Given the description of an element on the screen output the (x, y) to click on. 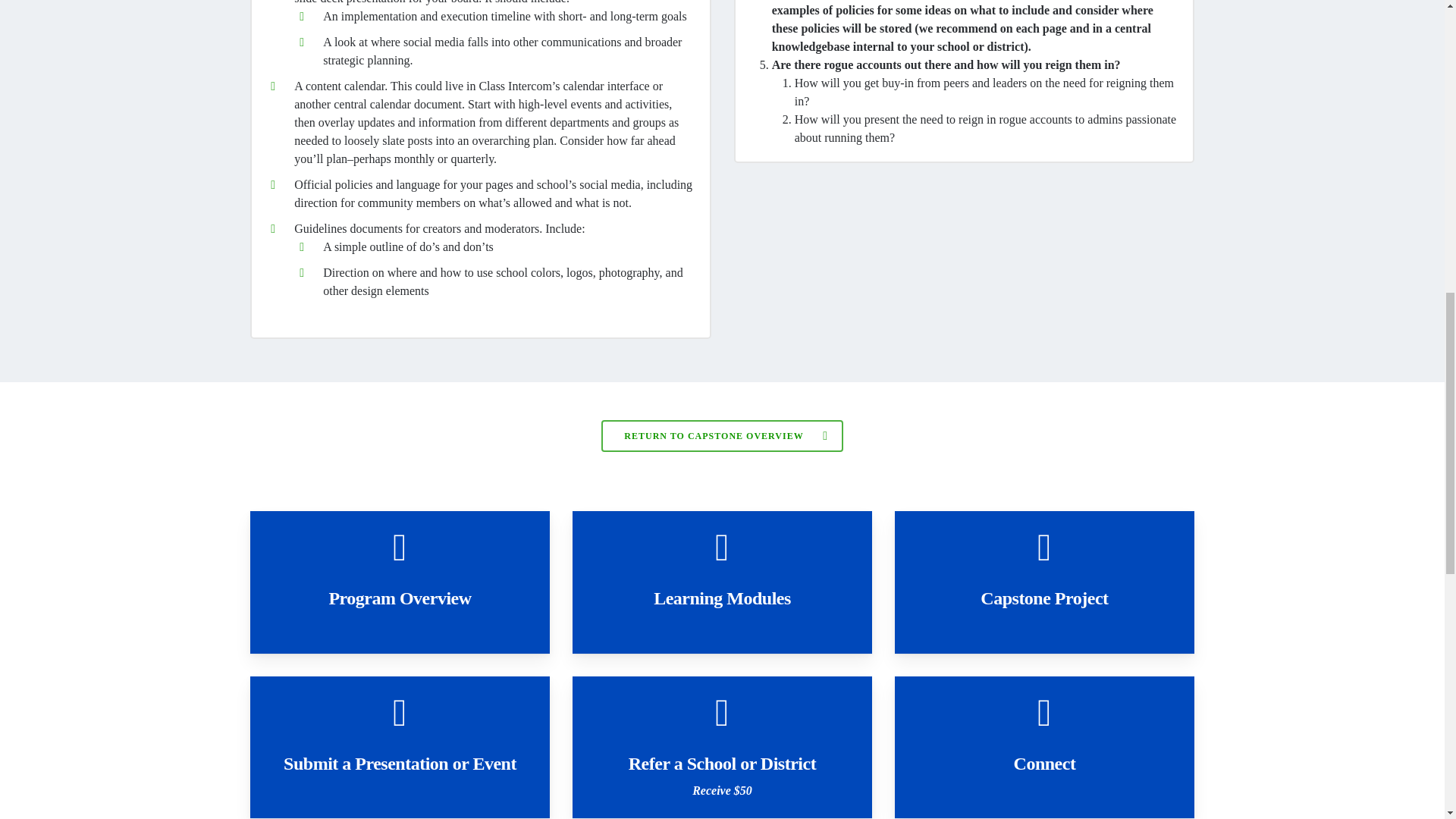
RETURN TO CAPSTONE OVERVIEW (722, 436)
